Given the description of an element on the screen output the (x, y) to click on. 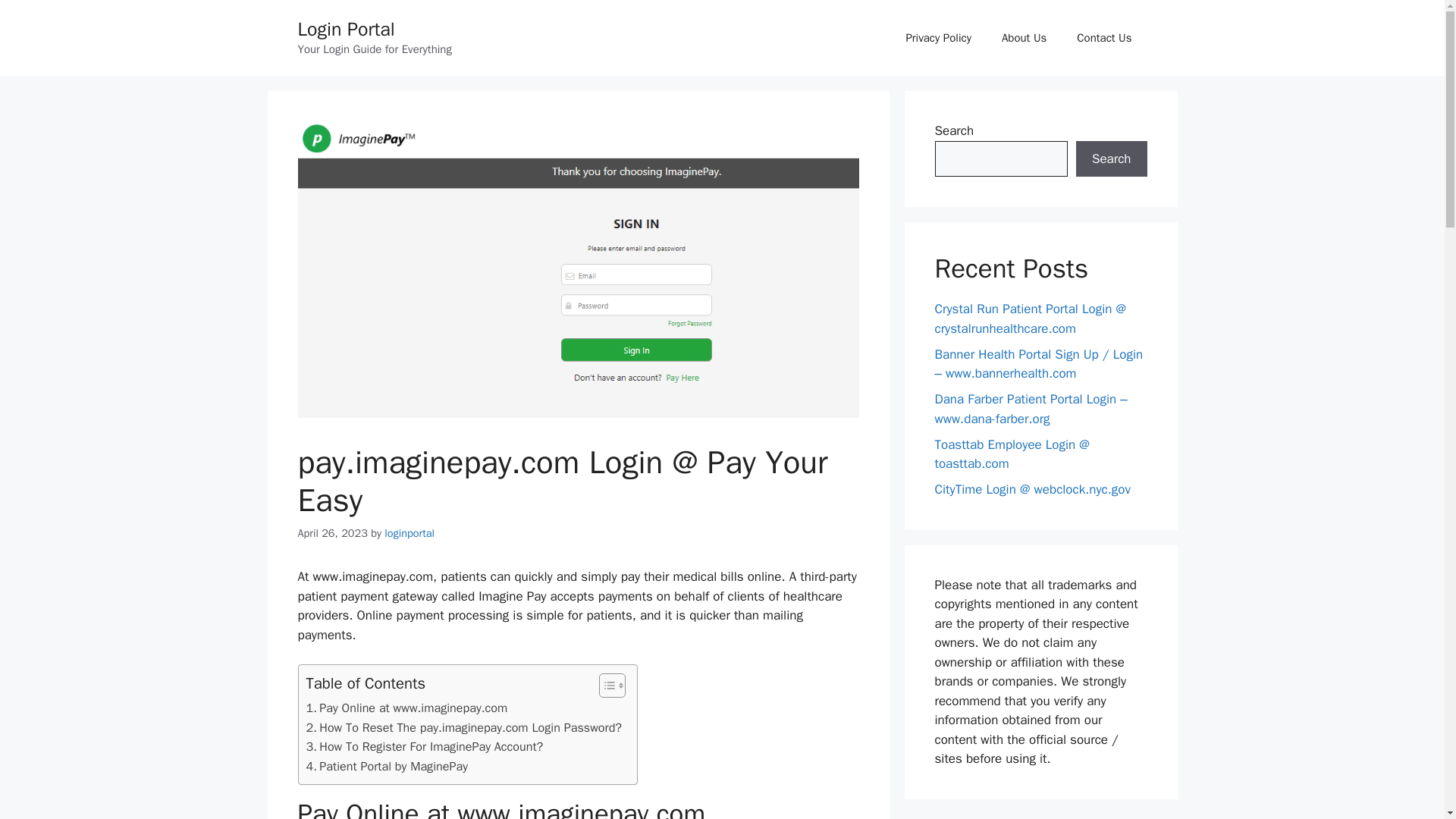
How To Register For ImaginePay Account? (424, 746)
Contact Us (1104, 37)
loginportal (408, 532)
About Us (1024, 37)
Pay Online at www.imaginepay.com (406, 708)
Login Portal (345, 28)
Search (1111, 158)
How To Reset The pay.imaginepay.com Login Password? (464, 727)
Privacy Policy (938, 37)
Patient Portal by MaginePay (386, 766)
Patient Portal by MaginePay (386, 766)
How To Reset The pay.imaginepay.com Login Password? (464, 727)
How To Register For ImaginePay Account? (424, 746)
View all posts by loginportal (408, 532)
